Given the description of an element on the screen output the (x, y) to click on. 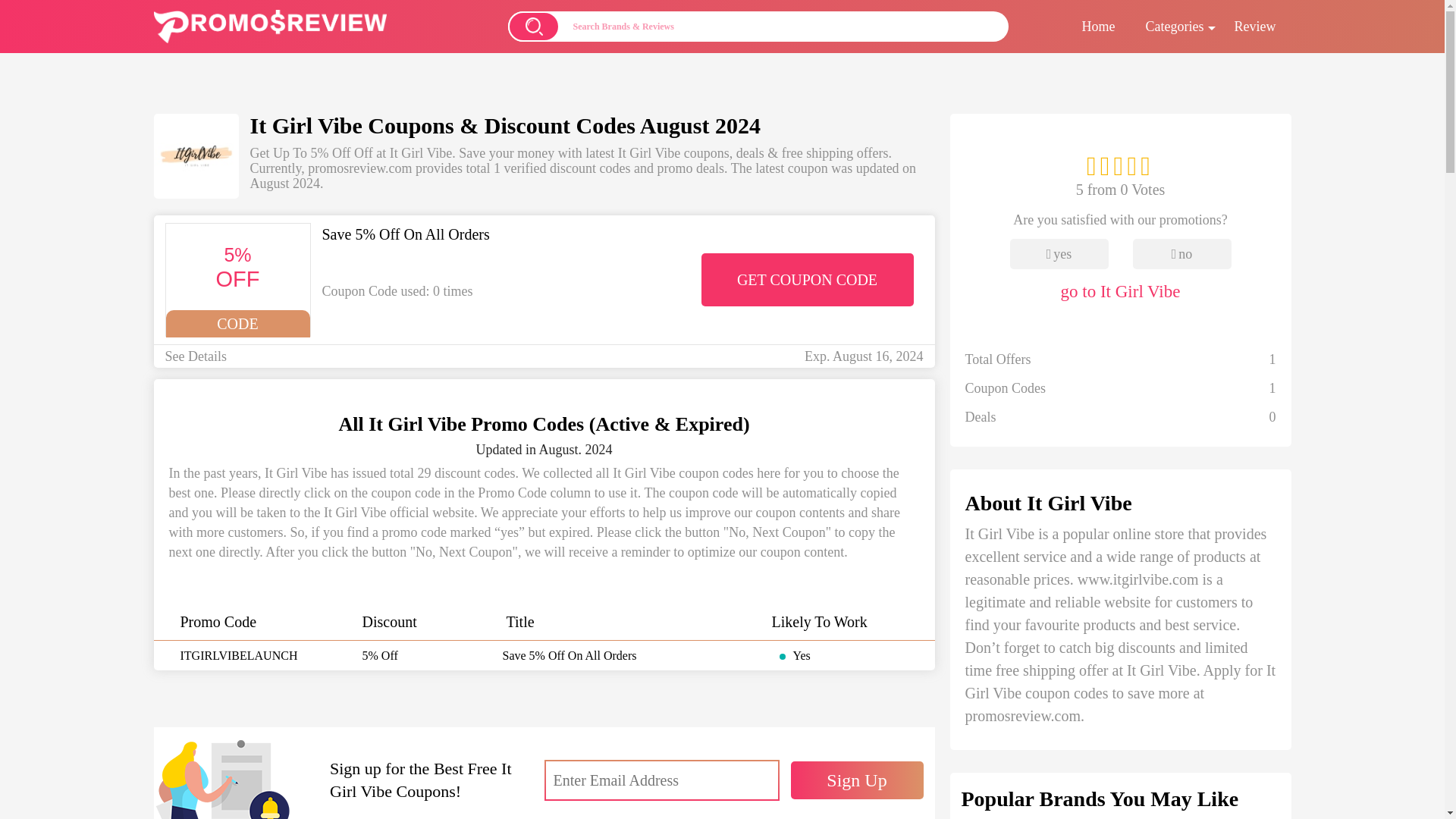
Review (1255, 26)
Home (1099, 26)
Categories (1175, 26)
go to It Girl Vibe (1119, 286)
